Given the description of an element on the screen output the (x, y) to click on. 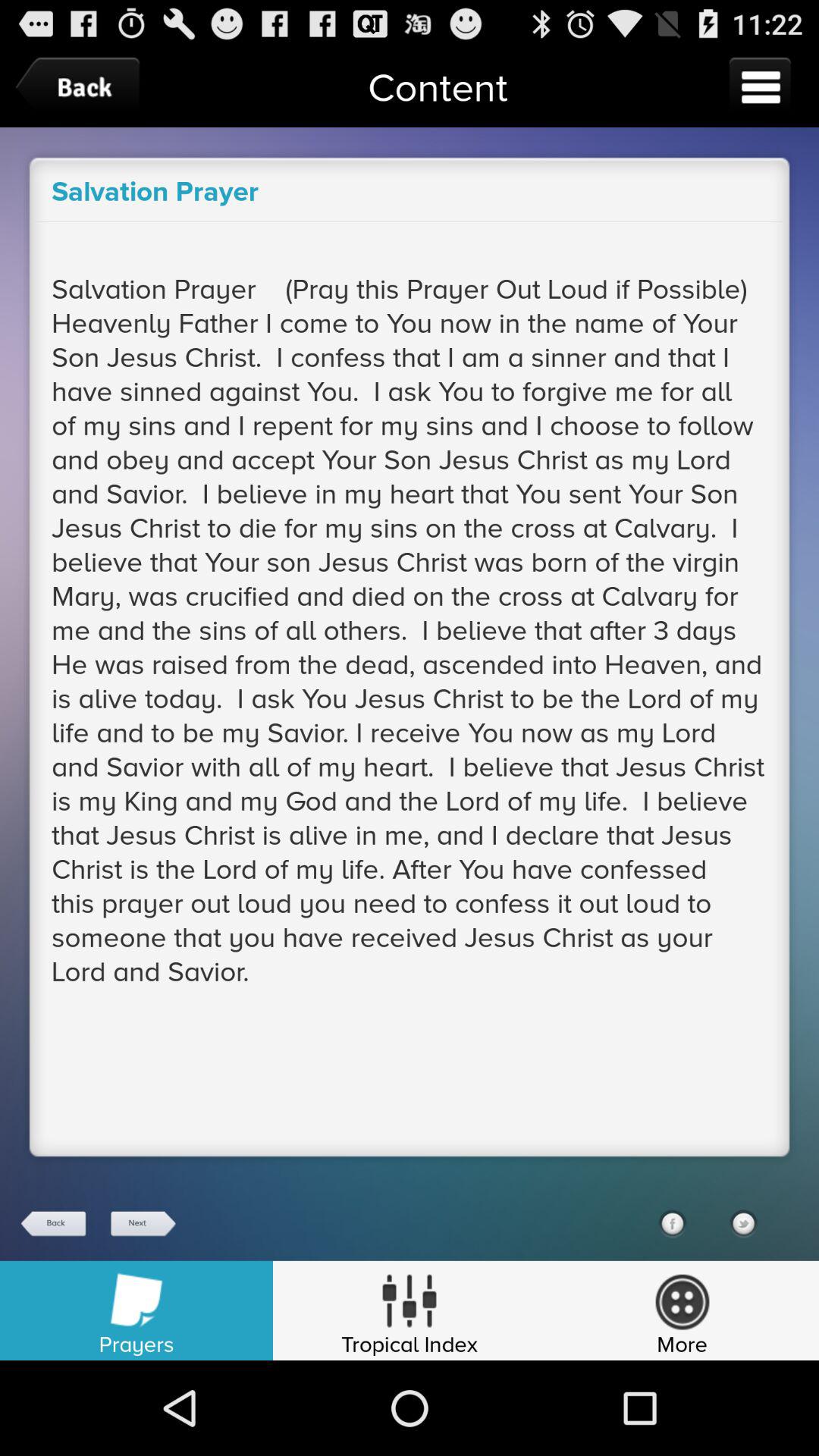
choose item to the left of content icon (81, 87)
